Given the description of an element on the screen output the (x, y) to click on. 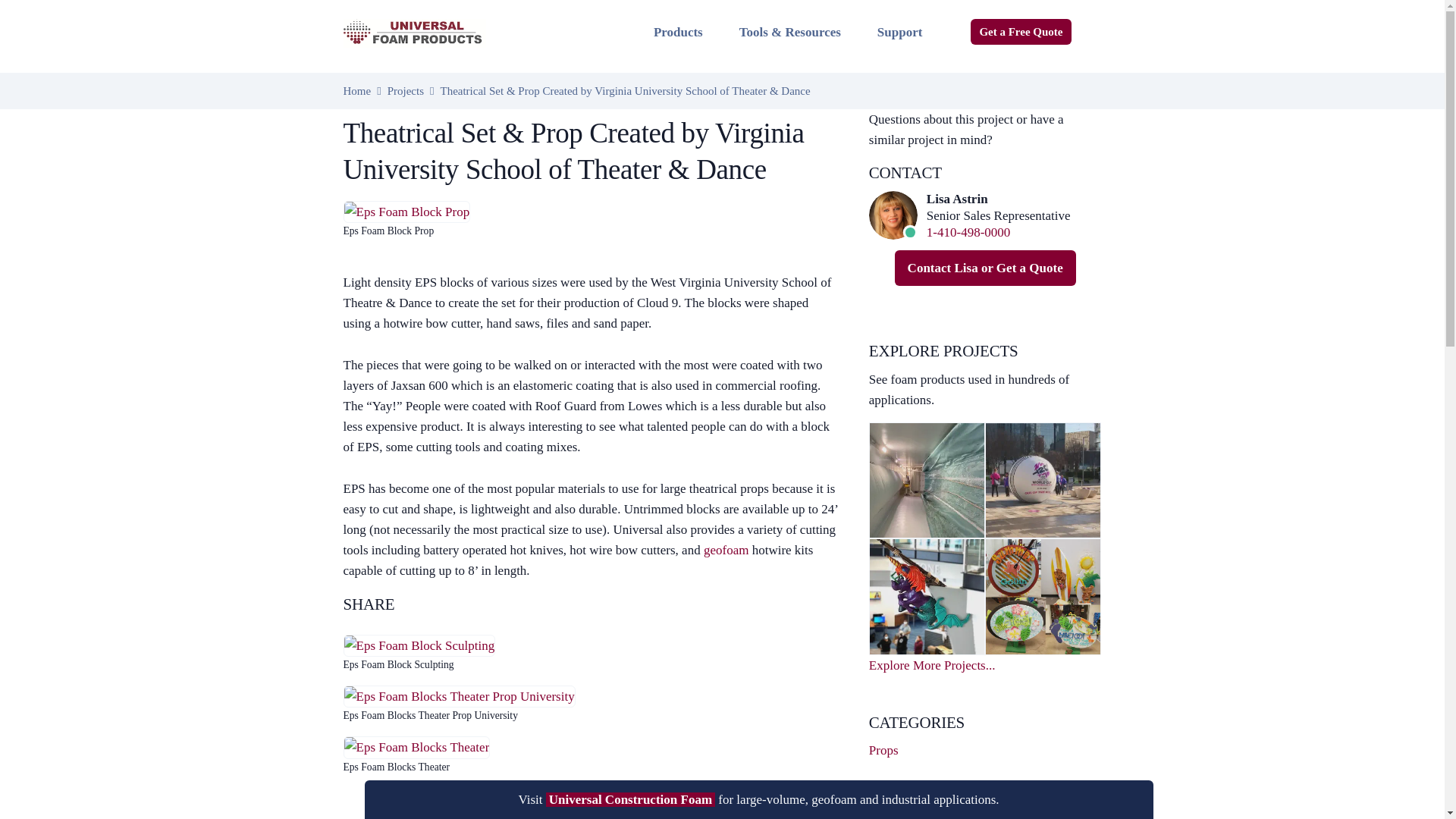
Products (677, 31)
